Given the description of an element on the screen output the (x, y) to click on. 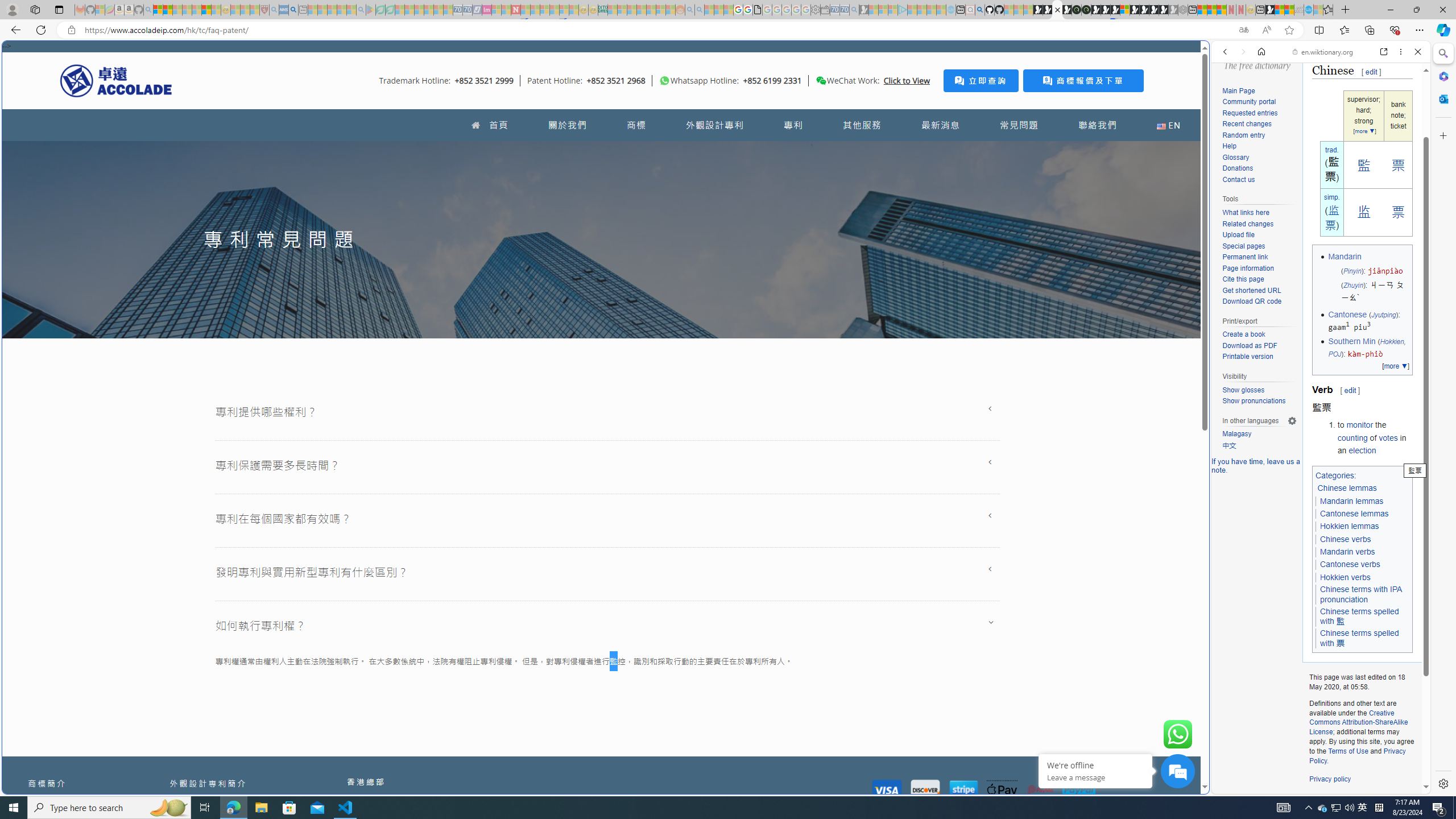
Privacy policy (1329, 779)
What links here (1245, 212)
Cantonese lemmas (1354, 513)
POJ (1333, 354)
Hokkien lemmas (1349, 526)
Related changes (1259, 224)
